Given the description of an element on the screen output the (x, y) to click on. 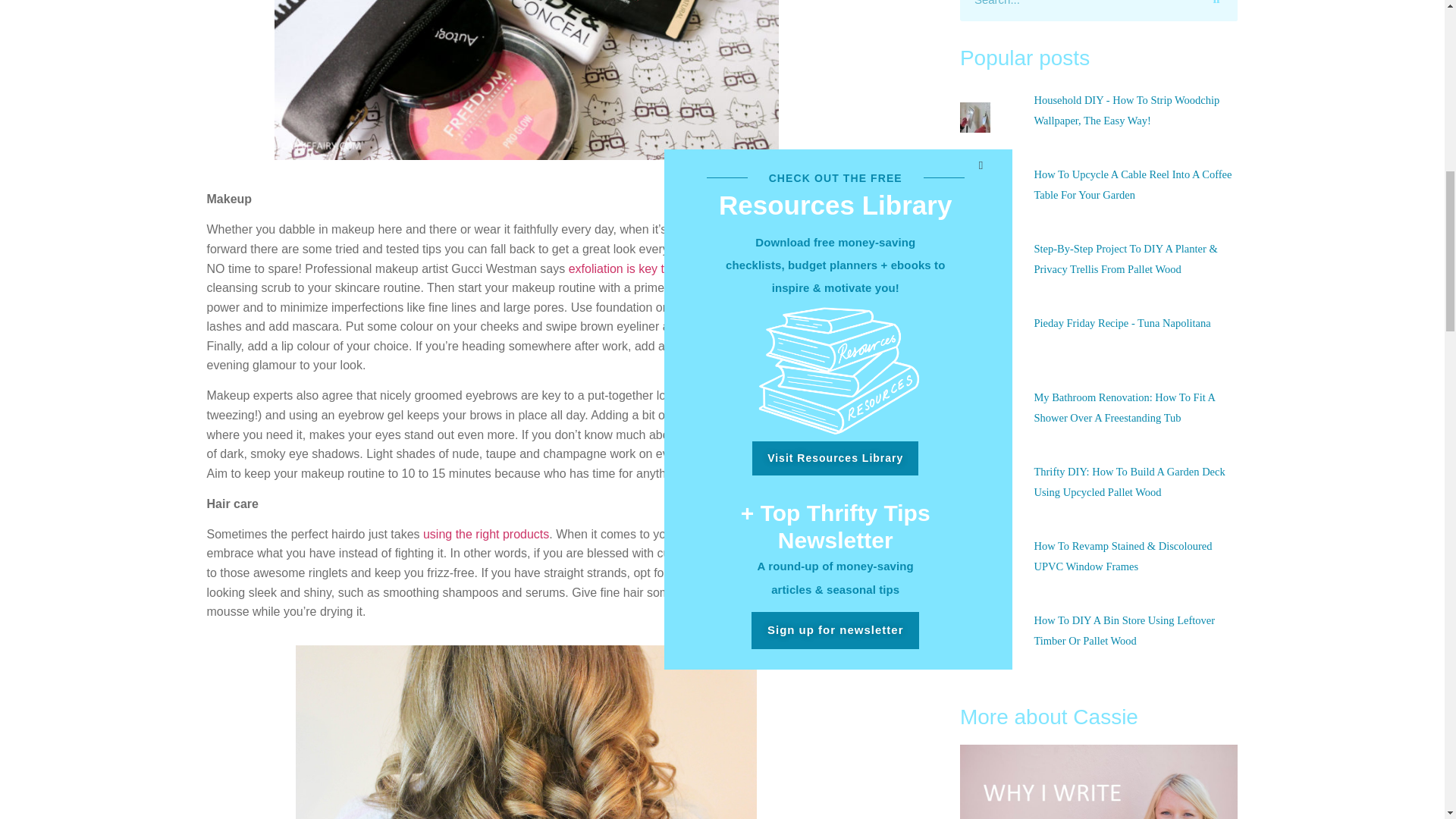
Pieday Friday Recipe - Tuna Napolitana (1121, 322)
